Given the description of an element on the screen output the (x, y) to click on. 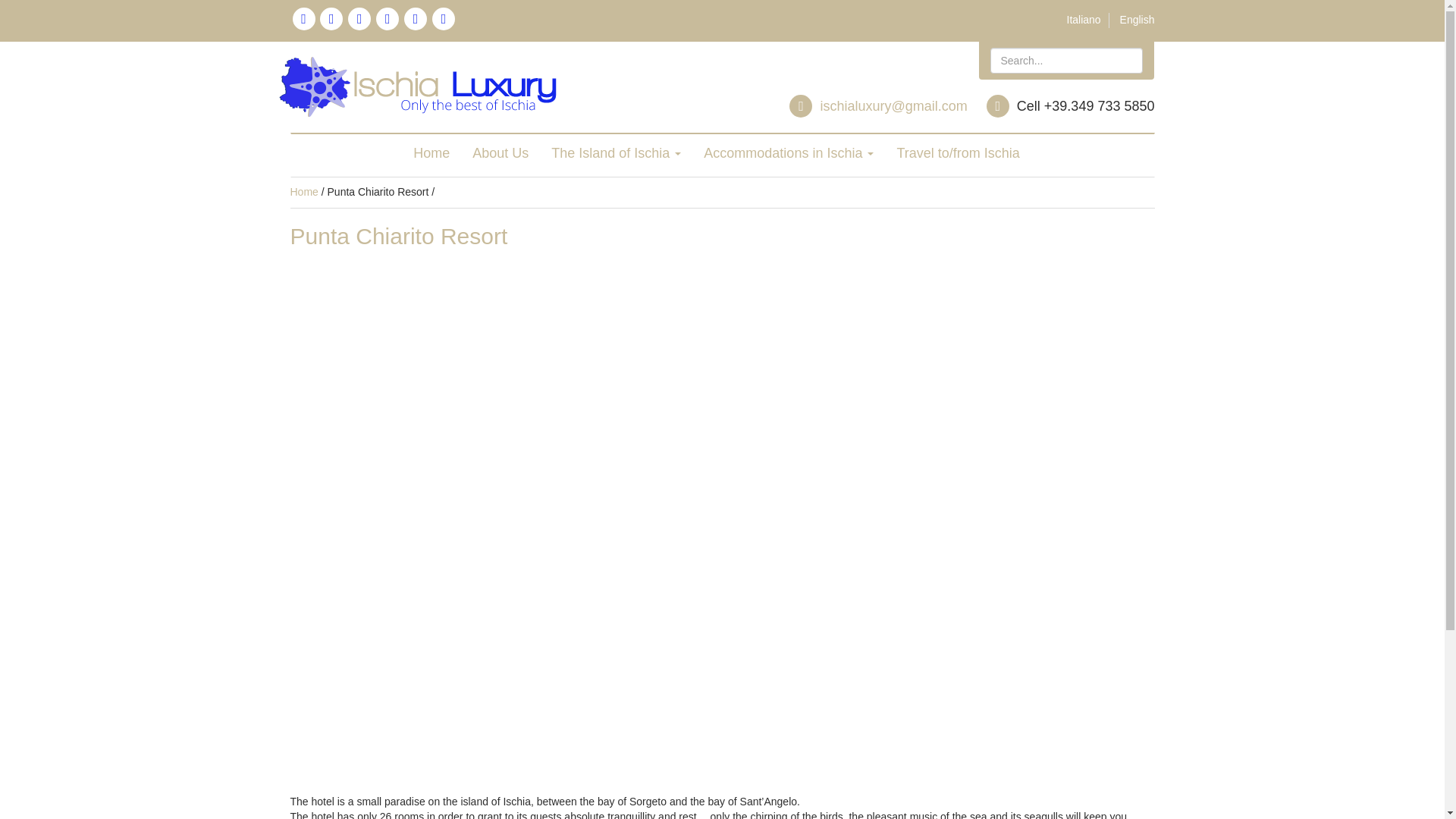
The Island of Ischia (616, 152)
Home (303, 191)
English (1136, 19)
Italiano (1083, 19)
About Us (500, 152)
Home (431, 152)
Accommodations in Ischia (789, 152)
